Given the description of an element on the screen output the (x, y) to click on. 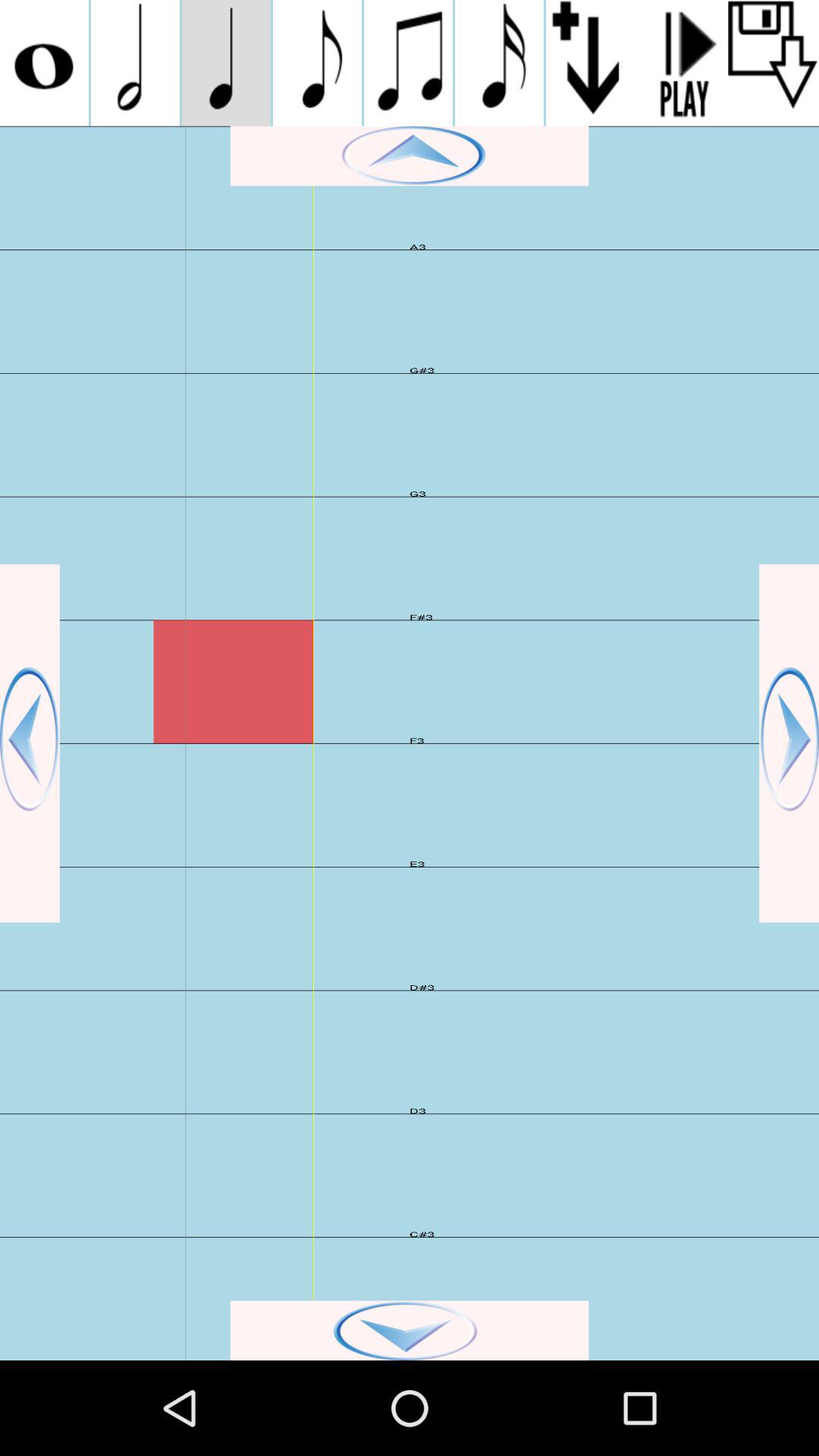
go up (409, 155)
